Given the description of an element on the screen output the (x, y) to click on. 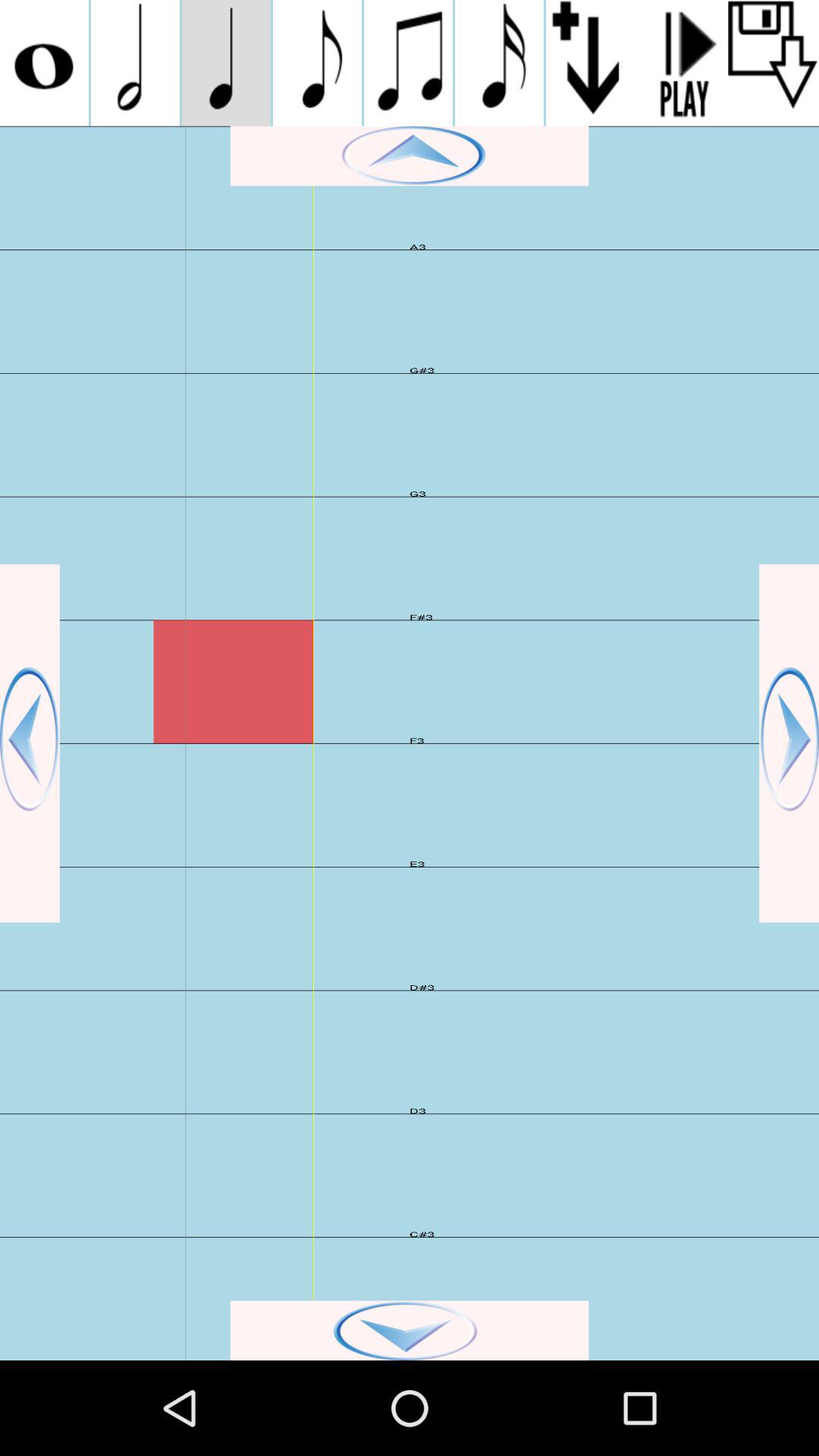
go up (409, 155)
